Given the description of an element on the screen output the (x, y) to click on. 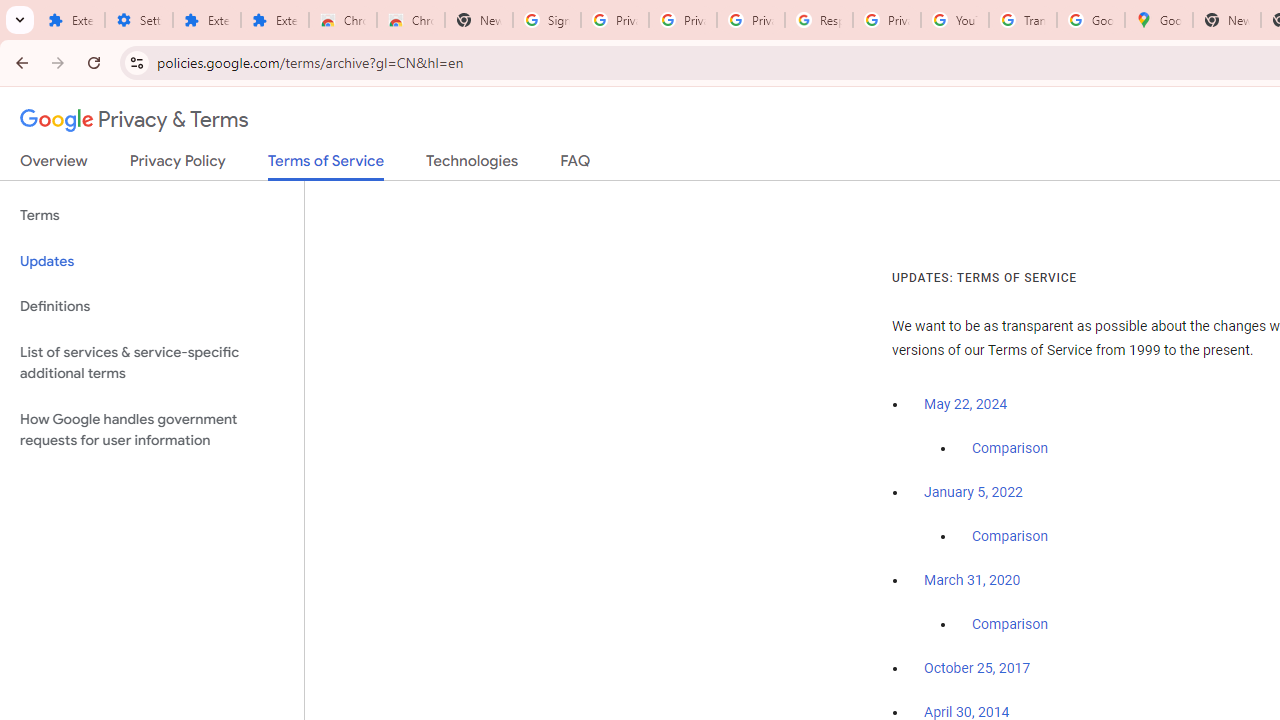
Definitions (152, 306)
How Google handles government requests for user information (152, 429)
Chrome Web Store (342, 20)
Extensions (70, 20)
List of services & service-specific additional terms (152, 362)
May 22, 2024 (966, 404)
Extensions (206, 20)
January 5, 2022 (973, 492)
Settings (138, 20)
Comparison (1009, 625)
